Given the description of an element on the screen output the (x, y) to click on. 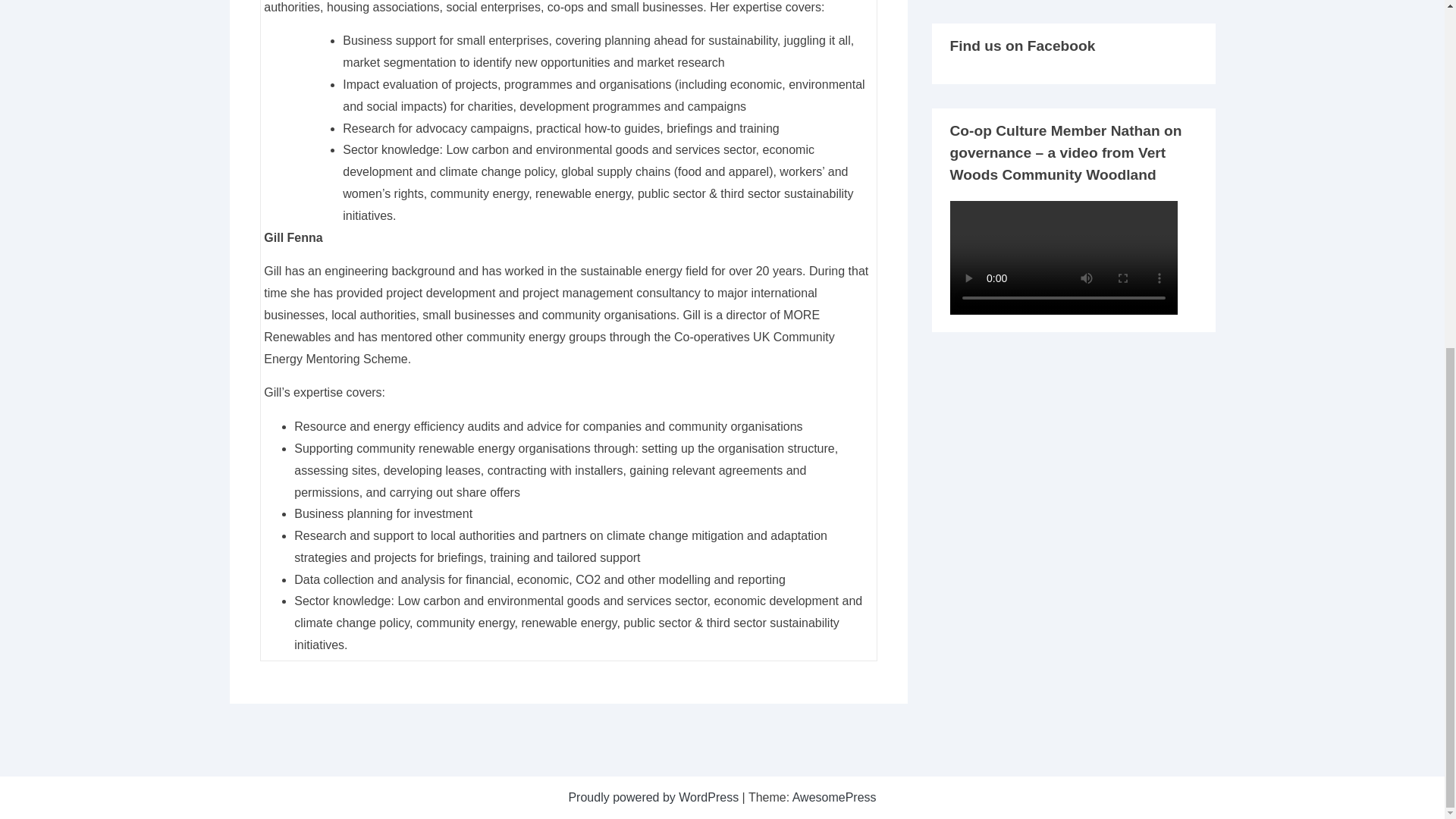
Proudly powered by WordPress (654, 797)
AwesomePress (834, 797)
